Given the description of an element on the screen output the (x, y) to click on. 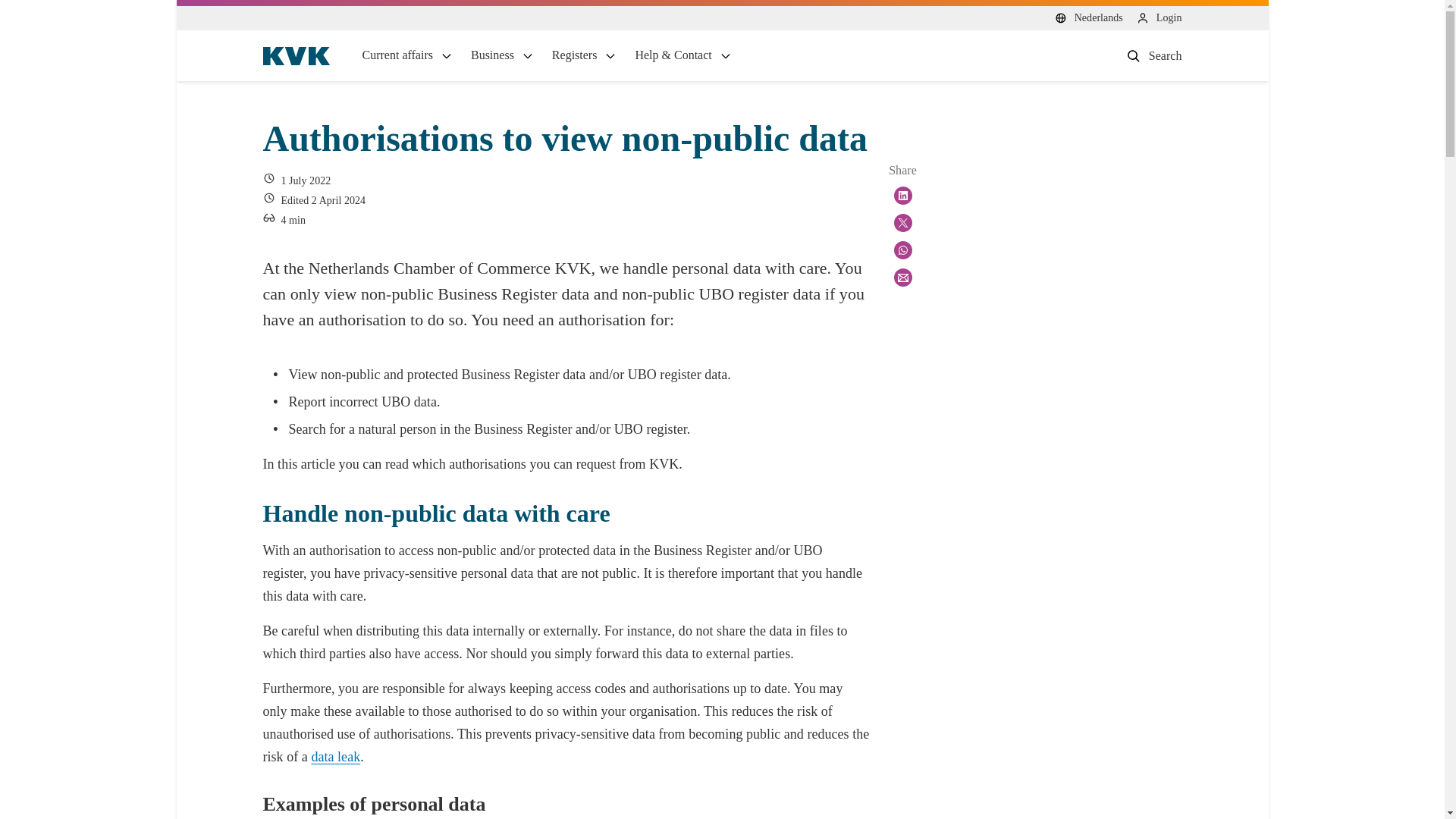
Nederlands (1088, 18)
Business (502, 55)
Current affairs (407, 55)
Go to the homepage of kvk.nl (296, 55)
Registers (584, 55)
Login (1159, 18)
